Given the description of an element on the screen output the (x, y) to click on. 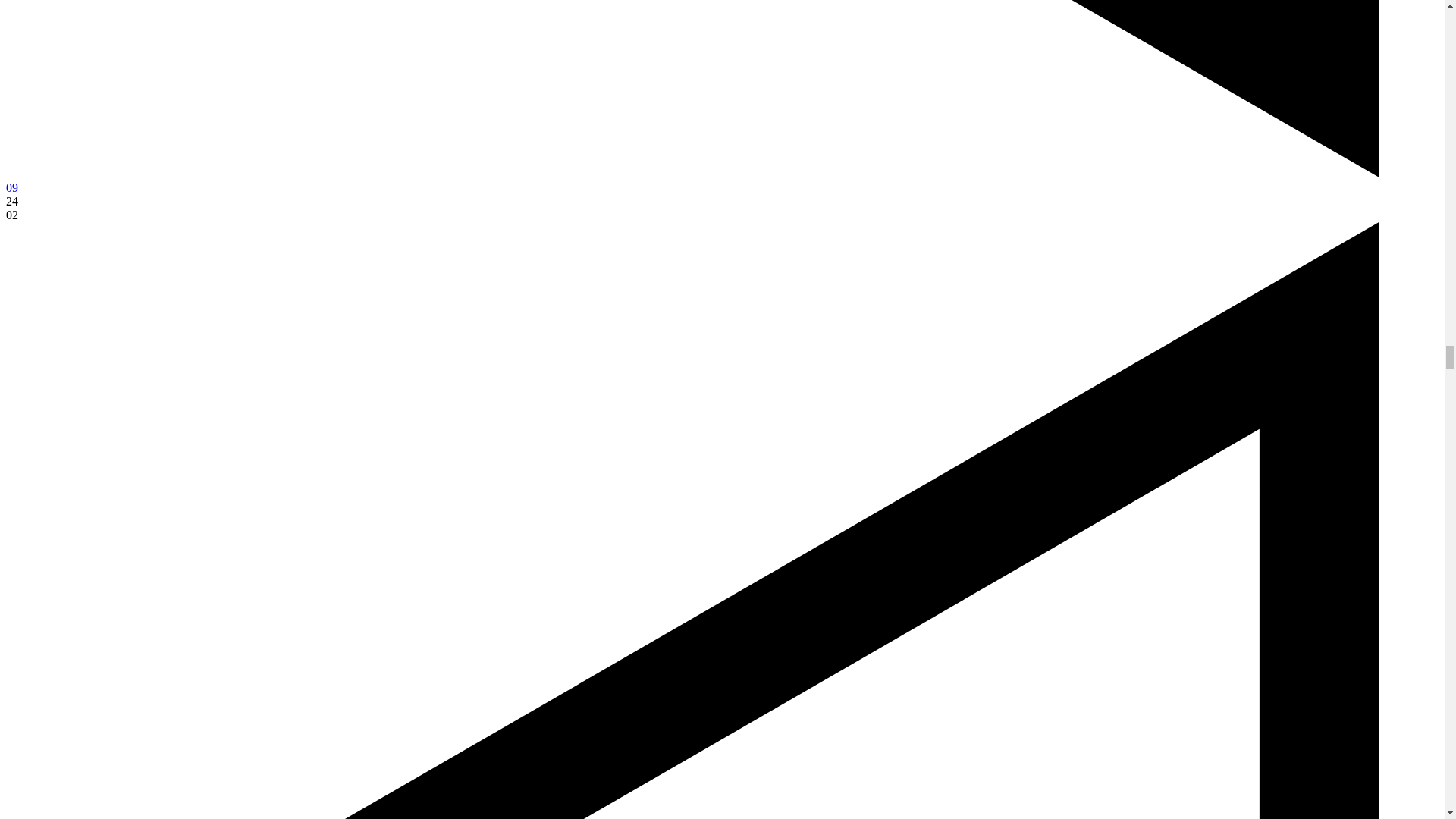
09 (11, 187)
